Given the description of an element on the screen output the (x, y) to click on. 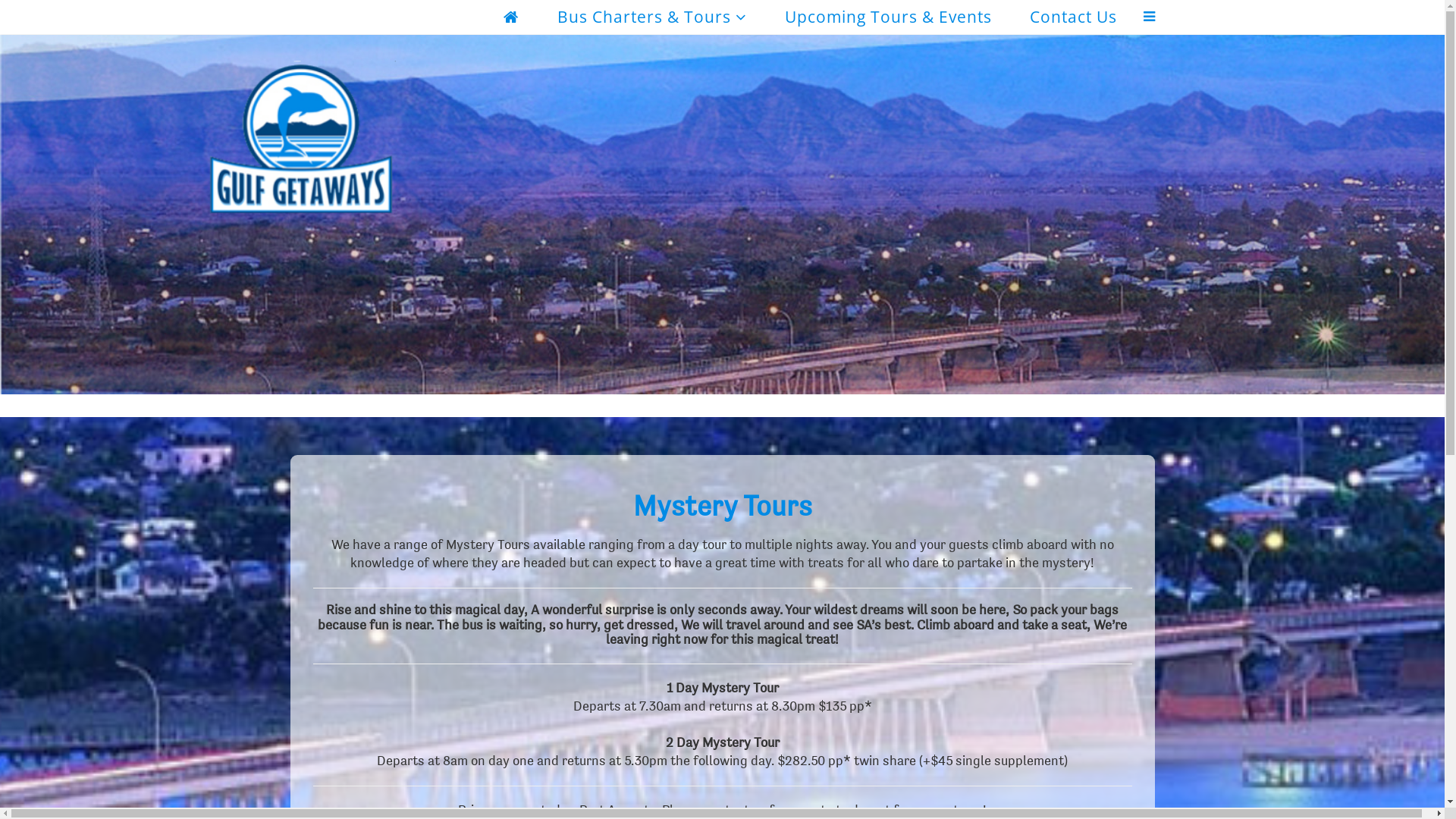
Bus Charters & Tours Element type: text (651, 17)
Contact Us Element type: text (1072, 17)
Upcoming Tours & Events Element type: text (887, 17)
